Given the description of an element on the screen output the (x, y) to click on. 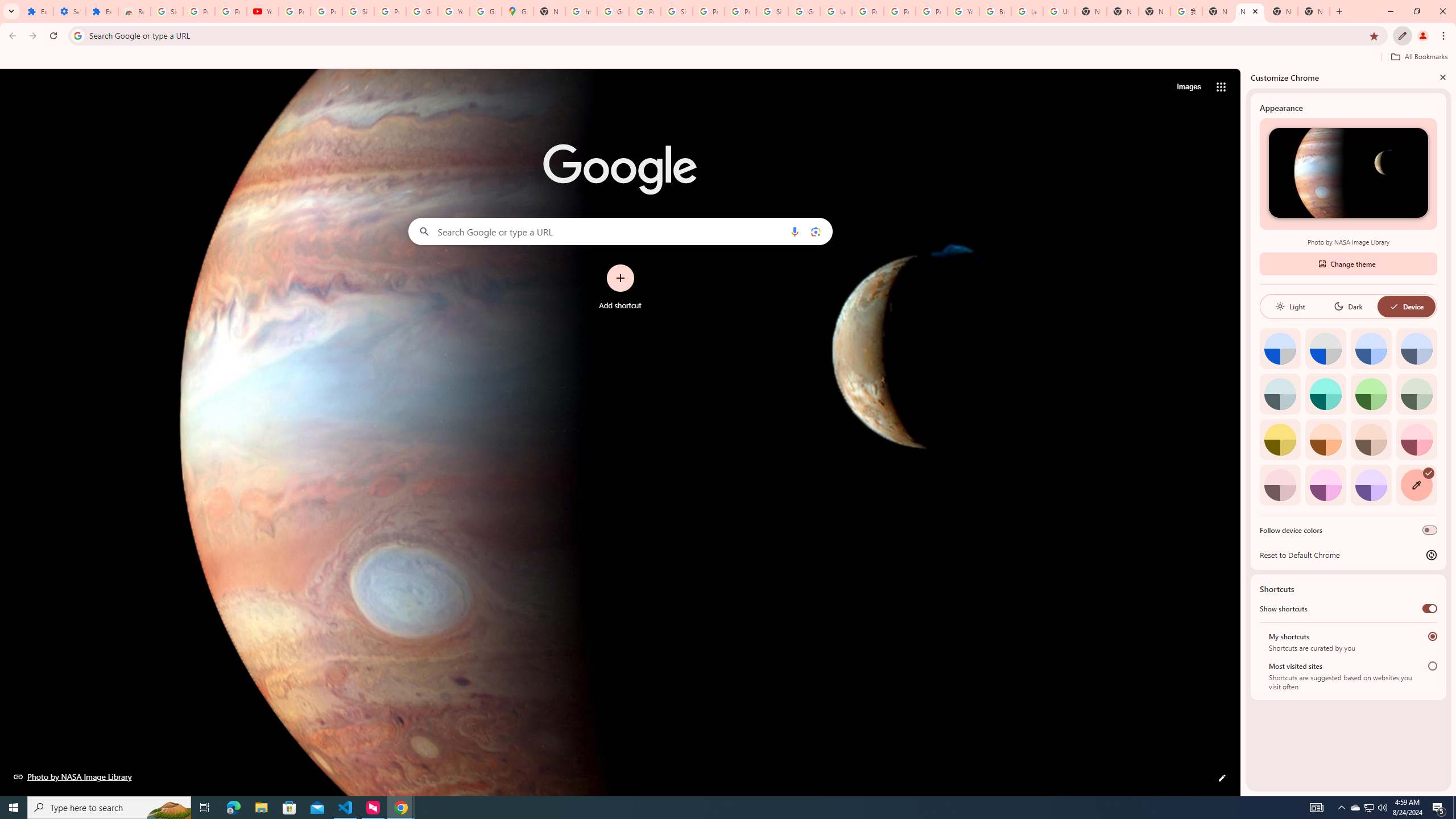
Follow device colors (1429, 529)
Extensions (37, 11)
Device (1406, 305)
Photo by NASA Image Library (72, 776)
Citron (1279, 439)
Viridian (1416, 393)
Default color (1279, 348)
Privacy Help Center - Policies Help (868, 11)
Fuchsia (1325, 484)
